Given the description of an element on the screen output the (x, y) to click on. 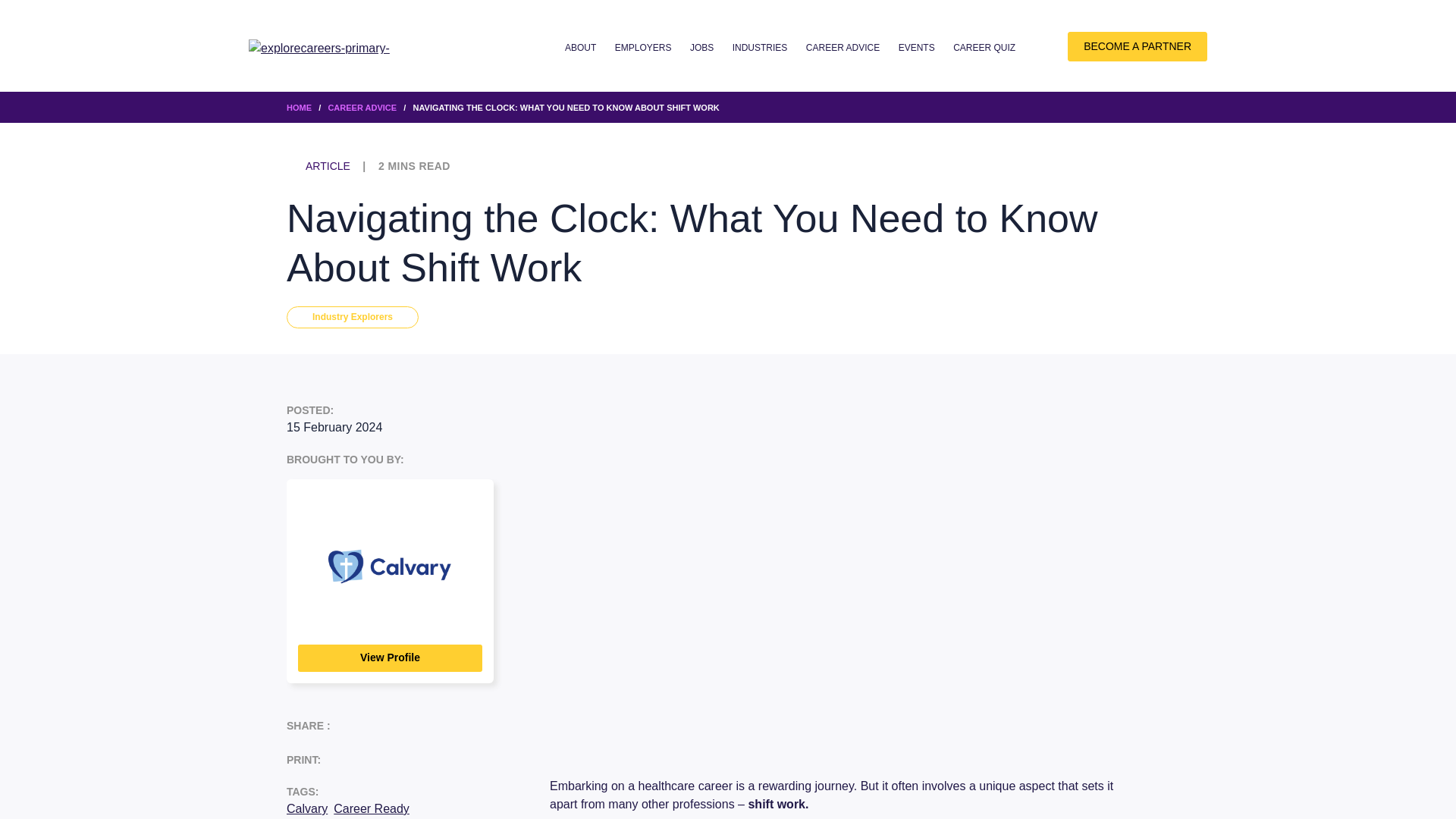
EVENTS (916, 47)
INDUSTRIES (759, 47)
CAREER ADVICE (842, 47)
ABOUT (579, 47)
BECOME A PARTNER (1137, 46)
Career Ready (371, 808)
HOME (298, 107)
CAREER QUIZ (983, 47)
Industry Explorers (352, 317)
Calvary (306, 808)
EMPLOYERS (642, 47)
JOBS (701, 47)
CAREER ADVICE (361, 107)
